Given the description of an element on the screen output the (x, y) to click on. 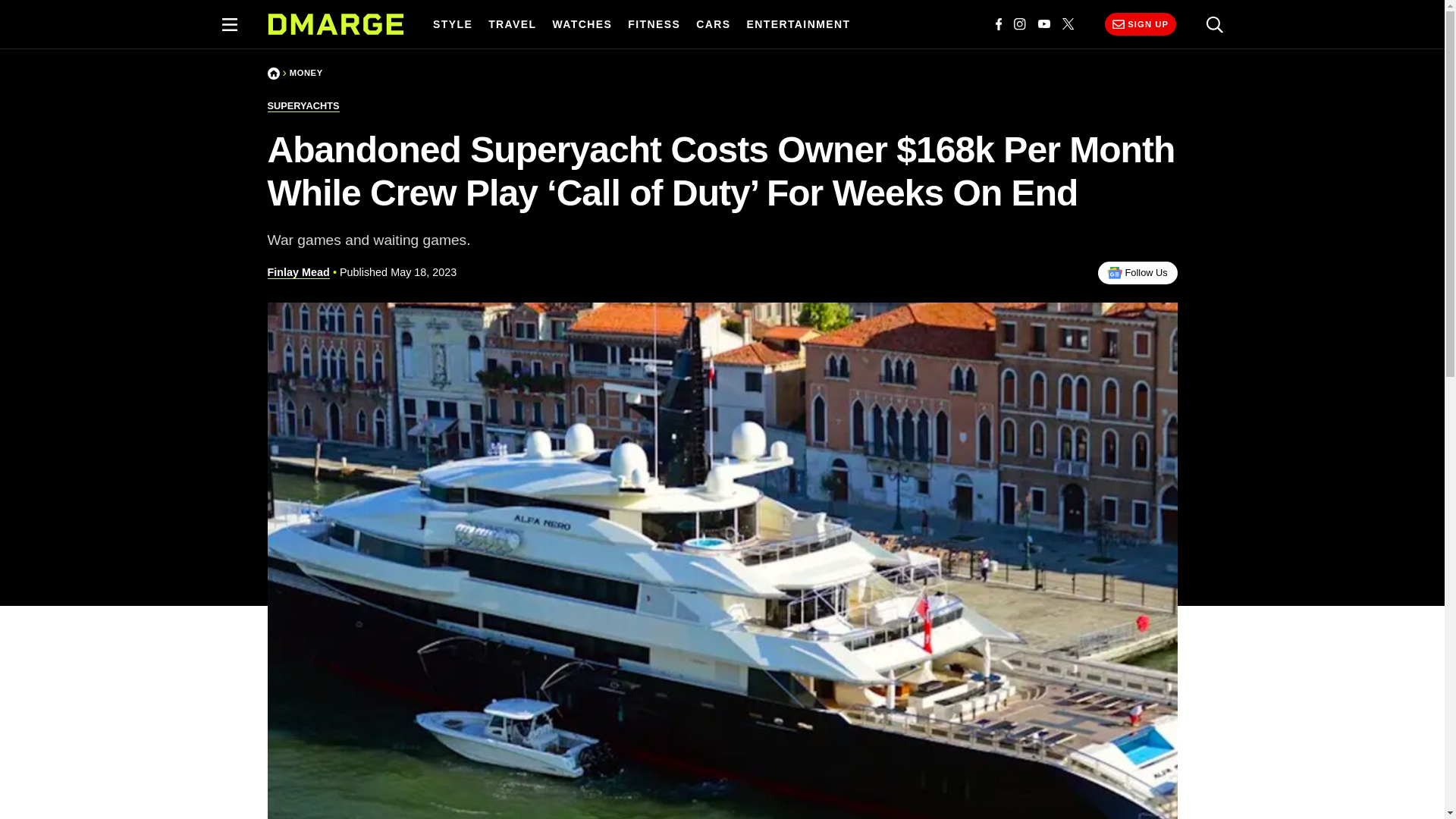
Posts by Finlay Mead (297, 272)
Visit us on Twitter (1068, 24)
TRAVEL (512, 24)
WATCHES (582, 24)
CARS (713, 24)
STYLE (452, 24)
FITNESS (654, 24)
SIGN UP (1139, 24)
Visit us on Instagram (1019, 24)
ENTERTAINMENT (798, 24)
